Given the description of an element on the screen output the (x, y) to click on. 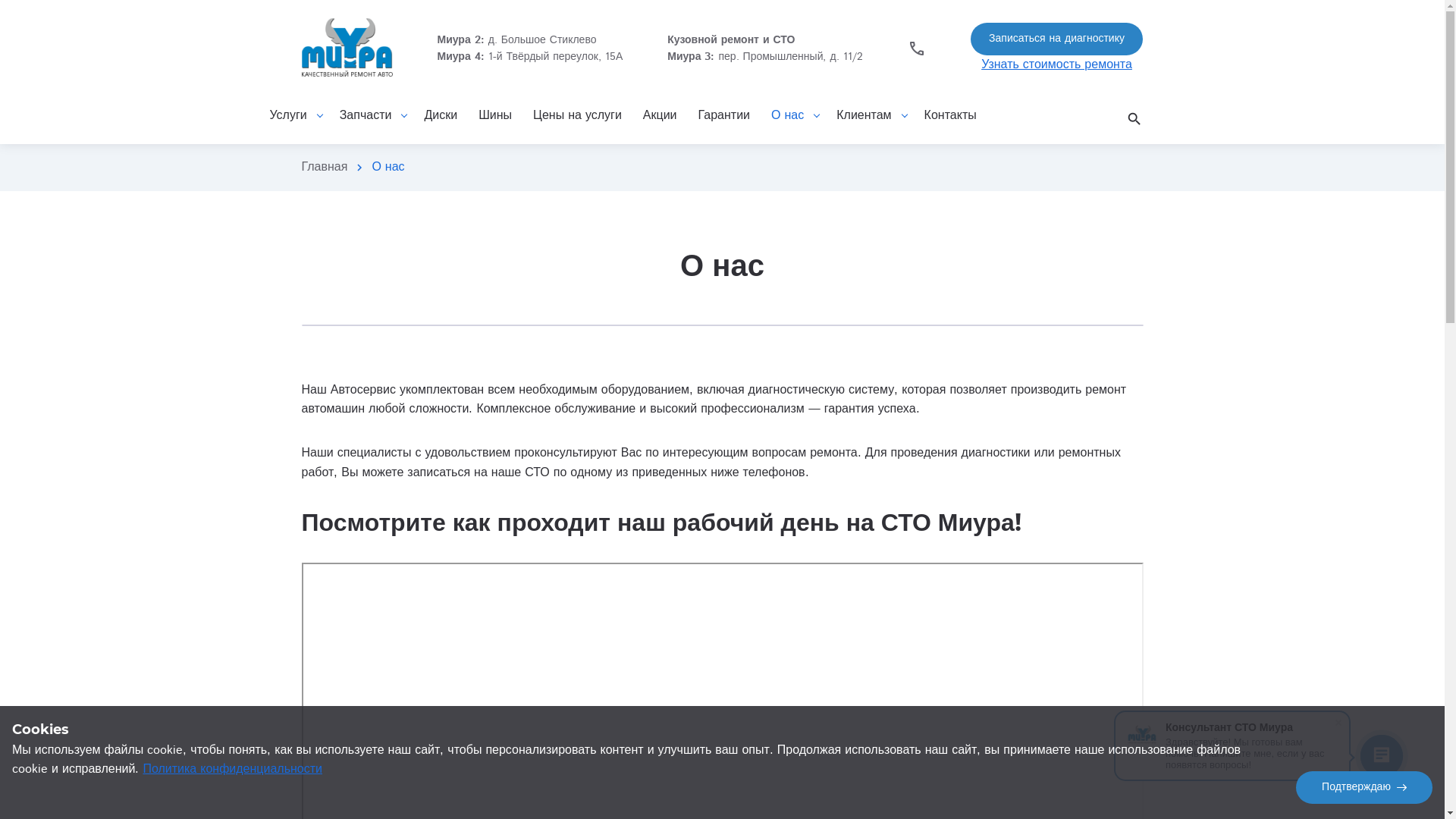
miura.by Element type: hover (346, 48)
